Given the description of an element on the screen output the (x, y) to click on. 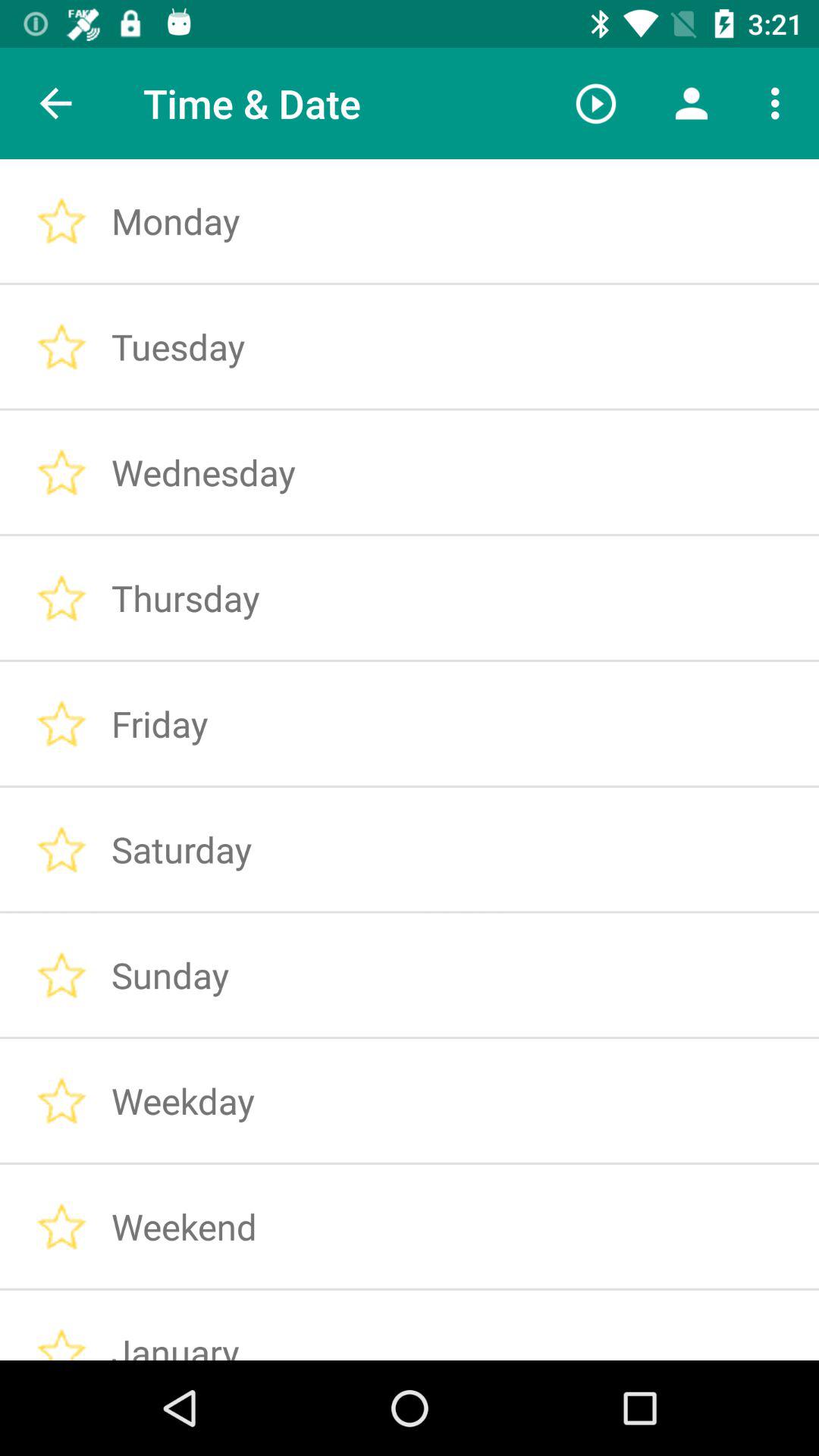
choose the icon next to the time & date item (595, 103)
